Given the description of an element on the screen output the (x, y) to click on. 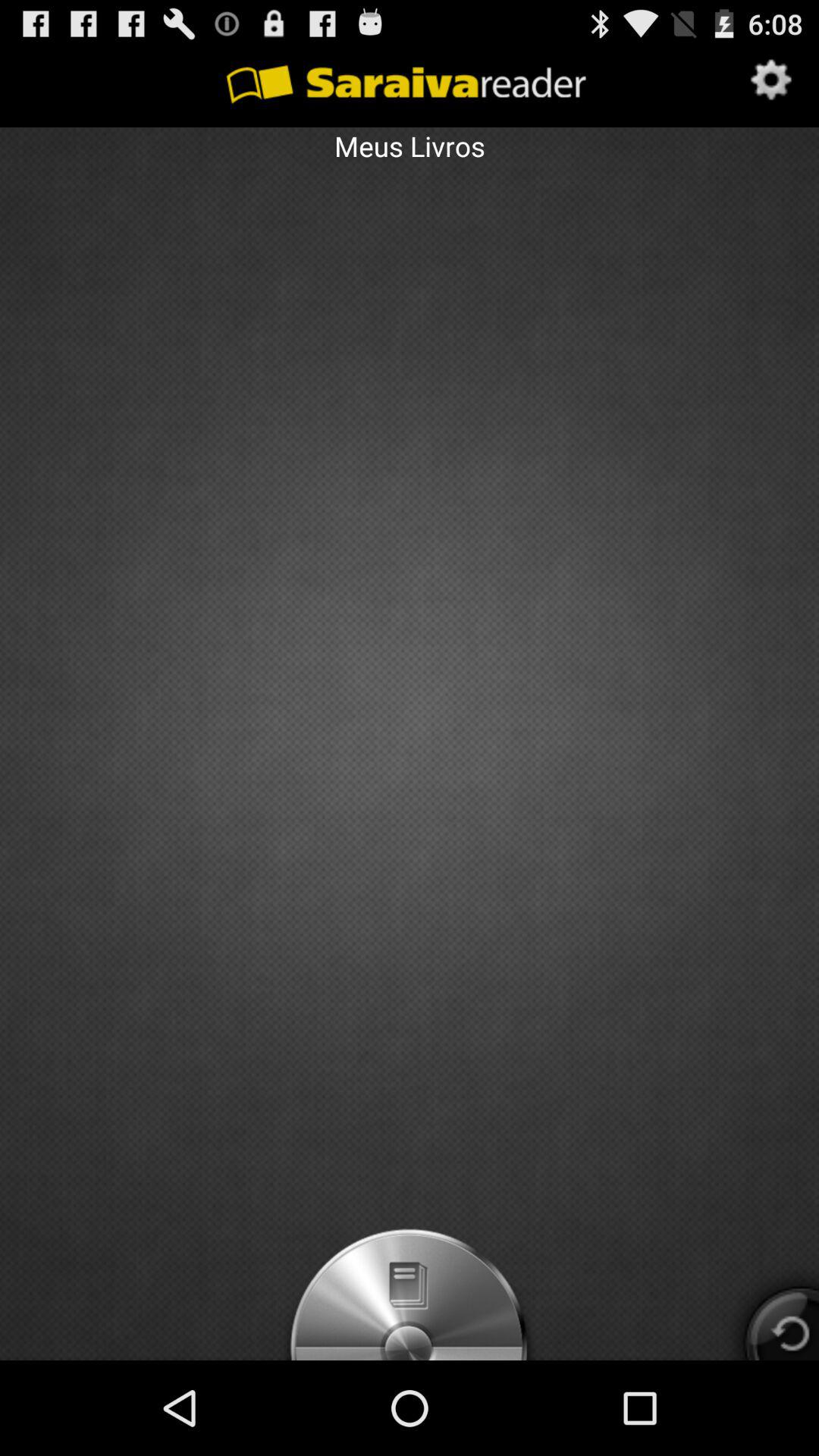
select the icon at the bottom right corner (768, 1309)
